Given the description of an element on the screen output the (x, y) to click on. 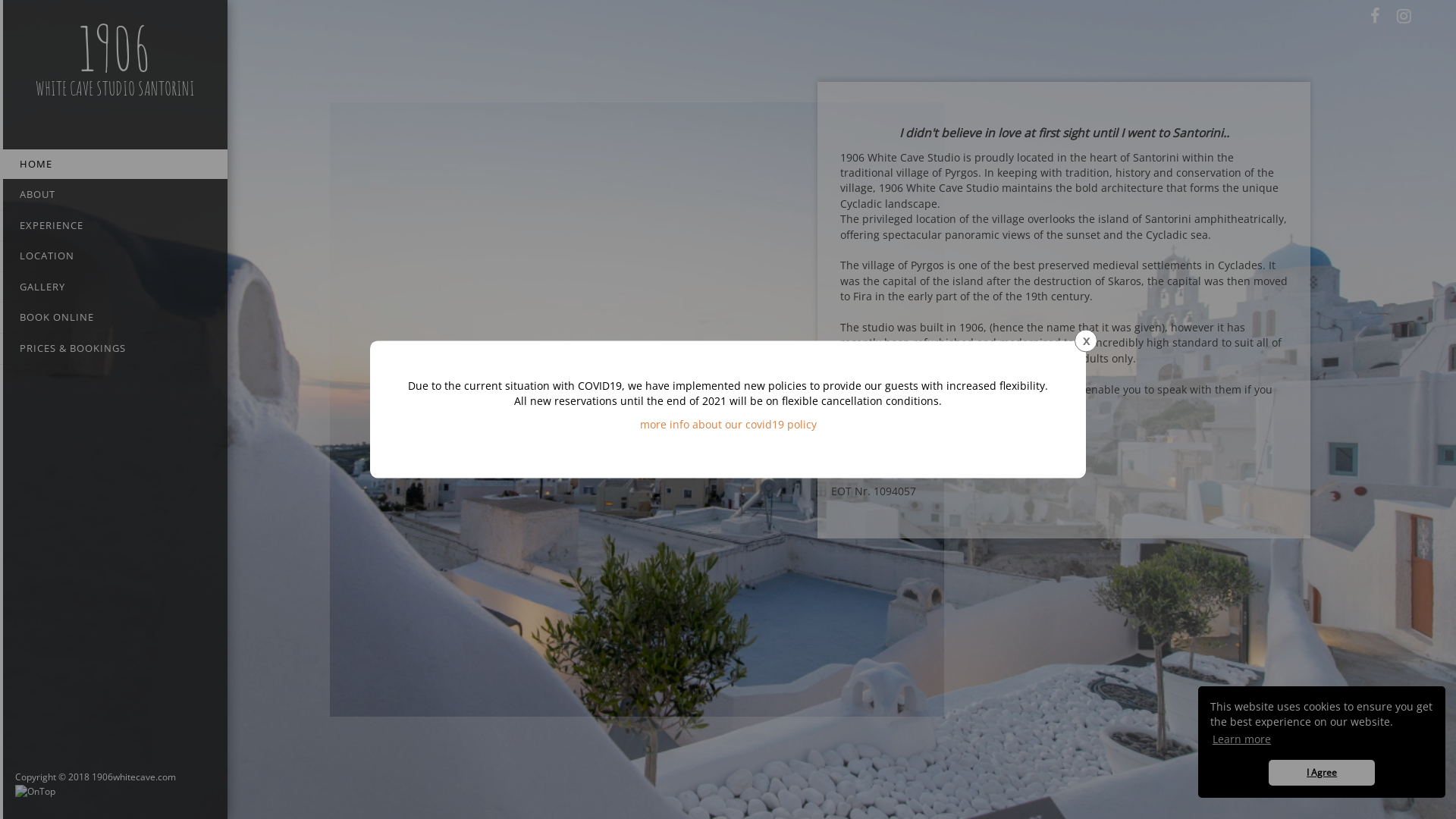
LOCATION Element type: text (113, 256)
more info about our covid19 policy Element type: text (727, 424)
EXPERIENCE Element type: text (113, 225)
Facebook Element type: hover (1374, 15)
GALLERY Element type: text (113, 287)
Instagram Element type: hover (1403, 15)
PRICES & BOOKINGS Element type: text (113, 348)
1906 Element type: text (115, 48)
Learn more Element type: text (1241, 739)
I Agree Element type: text (1321, 772)
BOOK ONLINE Element type: text (113, 317)
HOME Element type: text (113, 163)
ABOUT Element type: text (113, 194)
